Given the description of an element on the screen output the (x, y) to click on. 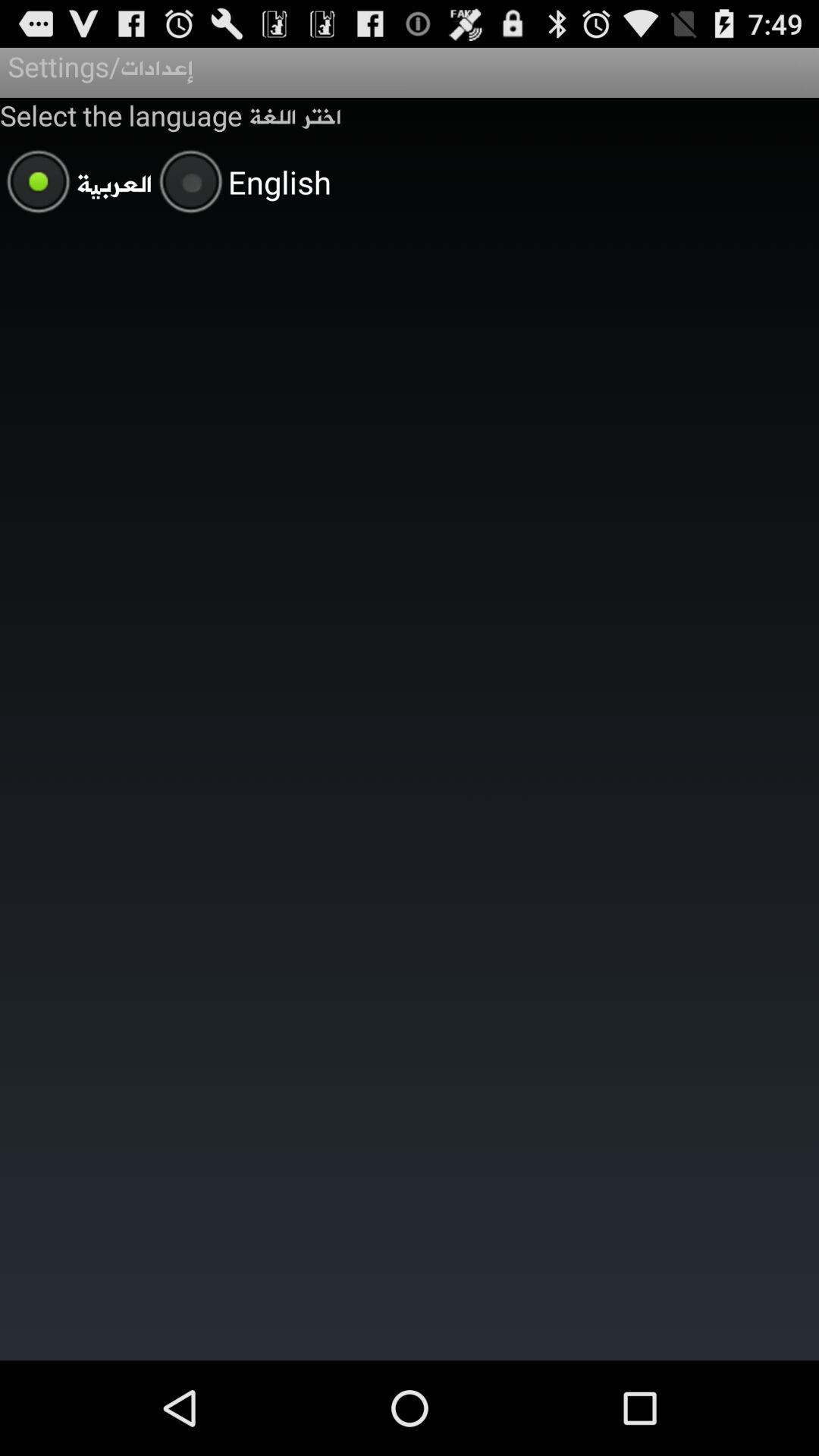
click the english icon (241, 184)
